Given the description of an element on the screen output the (x, y) to click on. 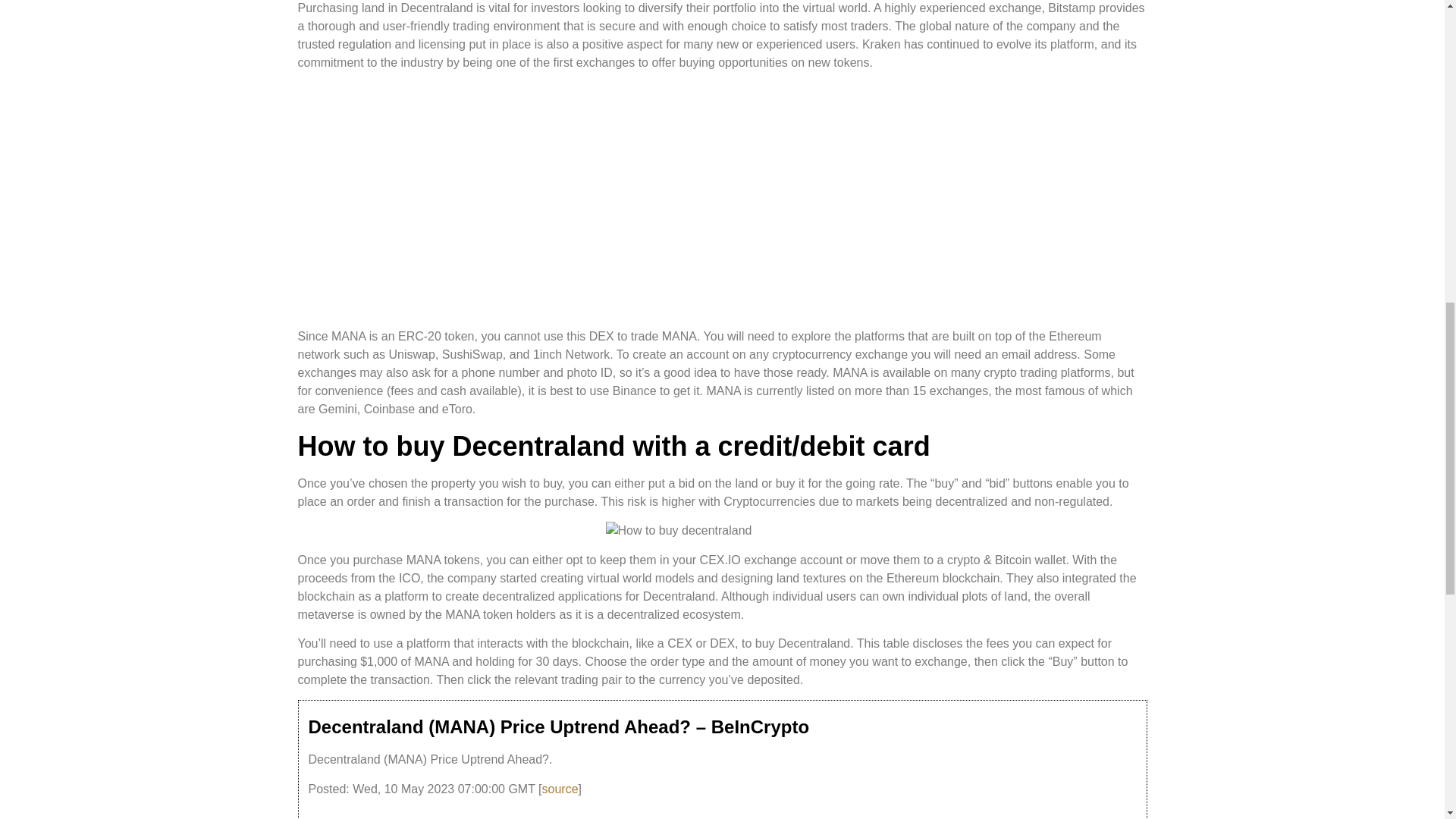
source (559, 788)
